Given the description of an element on the screen output the (x, y) to click on. 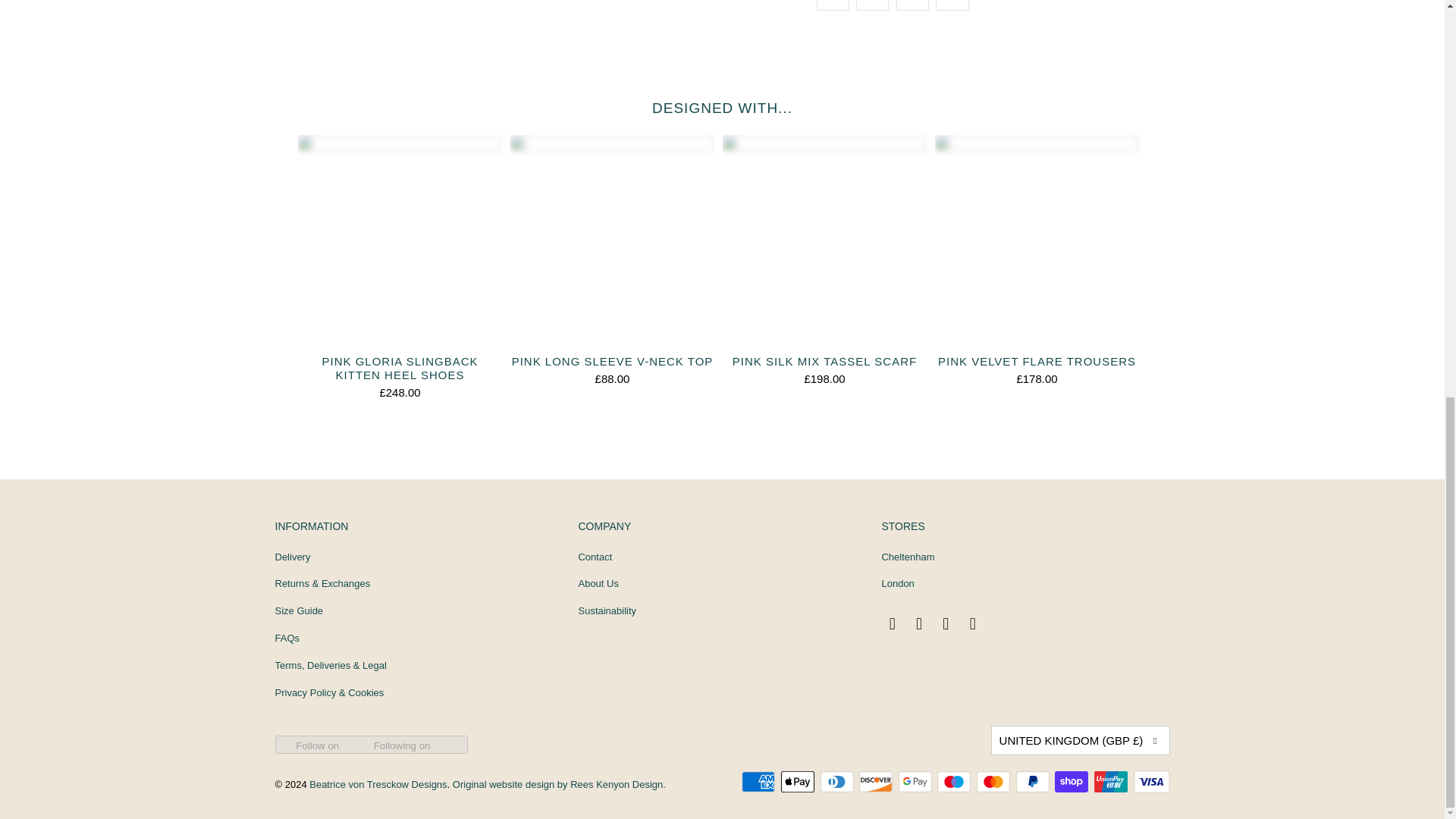
Shop Pay (1072, 781)
Beatrice von Tresckow Designs on Instagram (919, 624)
Share this on Facebook (872, 5)
Apple Pay (798, 781)
American Express (759, 781)
Google Pay (916, 781)
Diners Club (839, 781)
Mastercard (994, 781)
Share this on Twitter (831, 5)
Beatrice von Tresckow Designs on Facebook (892, 624)
